Given the description of an element on the screen output the (x, y) to click on. 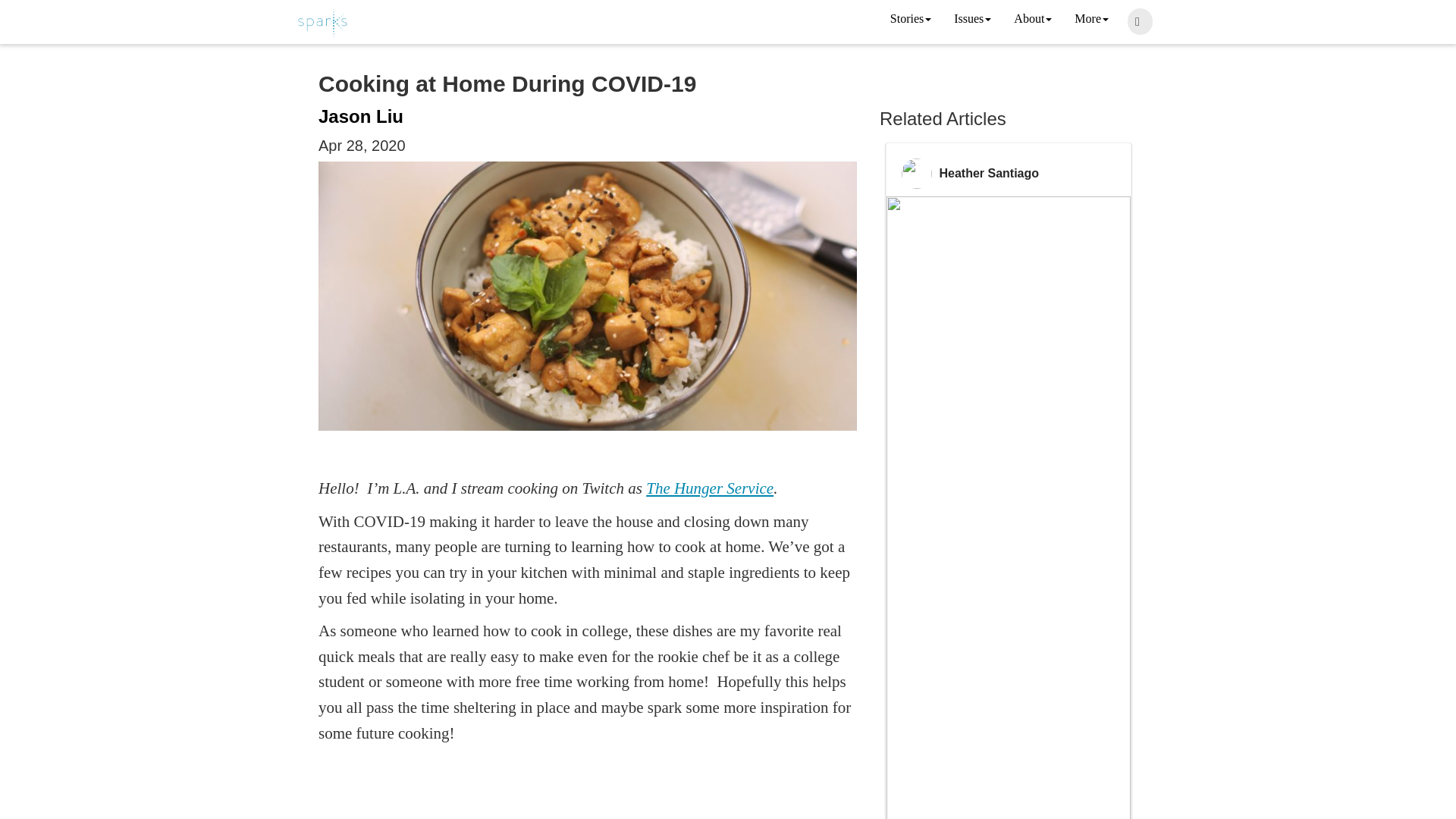
The Hunger Service (709, 488)
About (1032, 19)
Issues (972, 19)
Heather Santiago (989, 173)
Jason Liu (360, 116)
More (1090, 19)
Stories (910, 19)
